Given the description of an element on the screen output the (x, y) to click on. 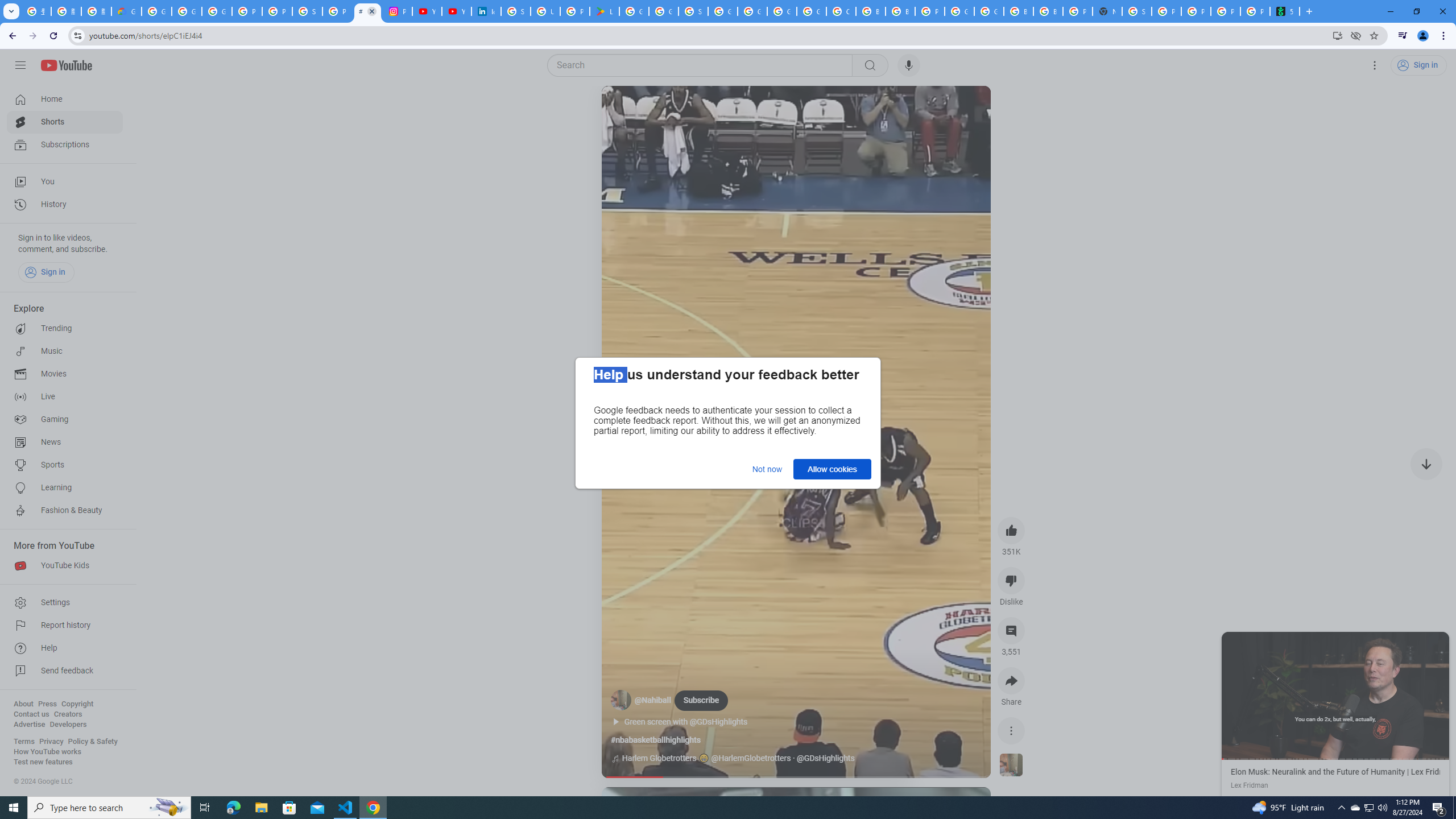
Green screen with @GDsHighlights (692, 722)
Advertise (29, 724)
Google Cloud Platform (959, 11)
Trending (64, 328)
Privacy Checkup (1195, 11)
like this video along with 351K other people (1011, 530)
Developers (68, 724)
Share (1011, 680)
Learning (64, 487)
